Given the description of an element on the screen output the (x, y) to click on. 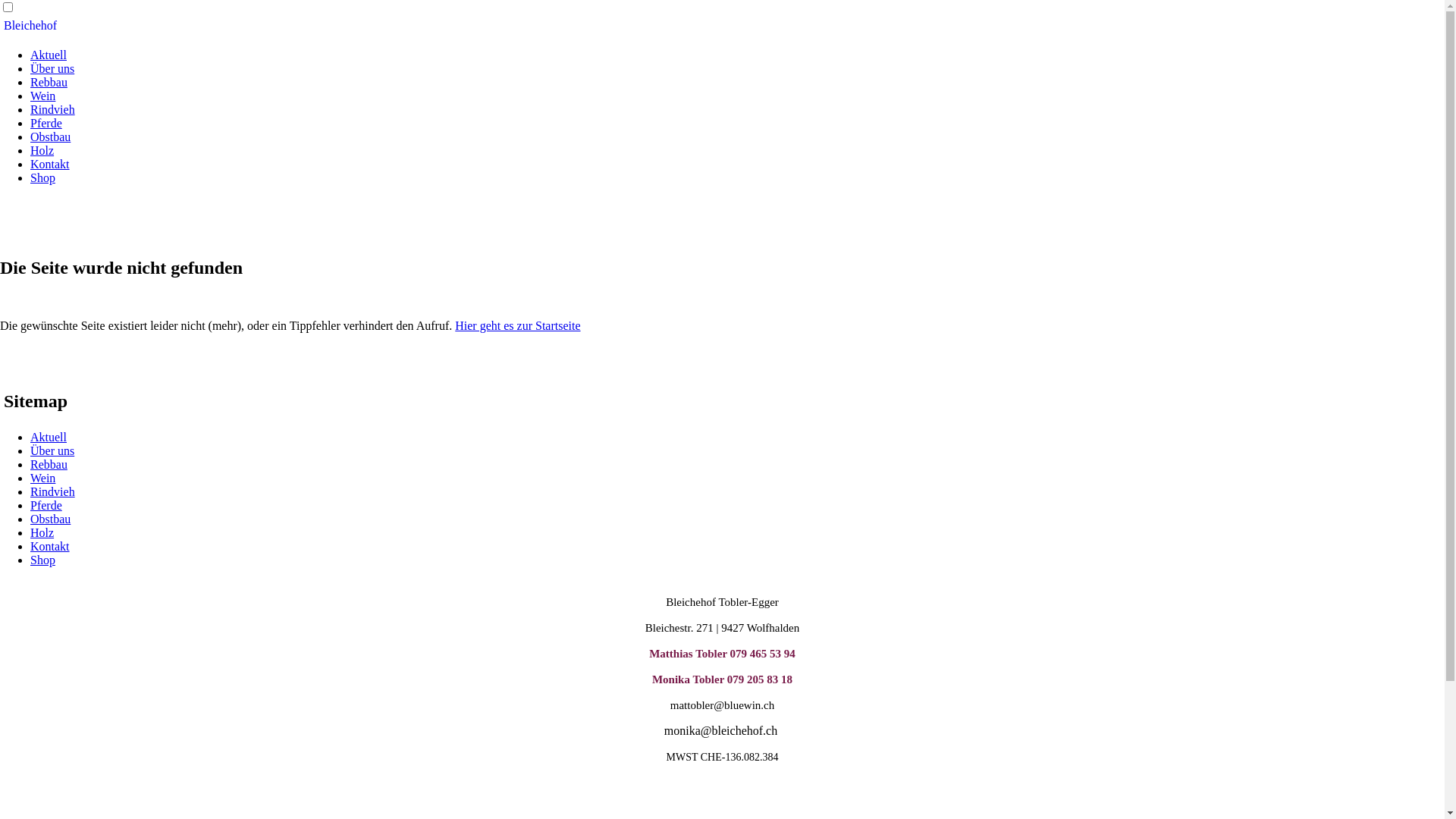
Shop Element type: text (42, 177)
Wein Element type: text (42, 95)
Obstbau Element type: text (50, 518)
Aktuell Element type: text (48, 54)
Wein Element type: text (42, 477)
Rindvieh Element type: text (52, 491)
Kontakt Element type: text (49, 545)
Aktuell Element type: text (48, 436)
Rindvieh Element type: text (52, 109)
Holz Element type: text (41, 150)
Bleichehof Element type: text (29, 24)
Hier geht es zur Startseite Element type: text (517, 325)
Rebbau Element type: text (48, 464)
Kontakt Element type: text (49, 163)
Holz Element type: text (41, 532)
Pferde Element type: text (46, 504)
Obstbau Element type: text (50, 136)
Rebbau Element type: text (48, 81)
Shop Element type: text (42, 559)
Pferde Element type: text (46, 122)
